Given the description of an element on the screen output the (x, y) to click on. 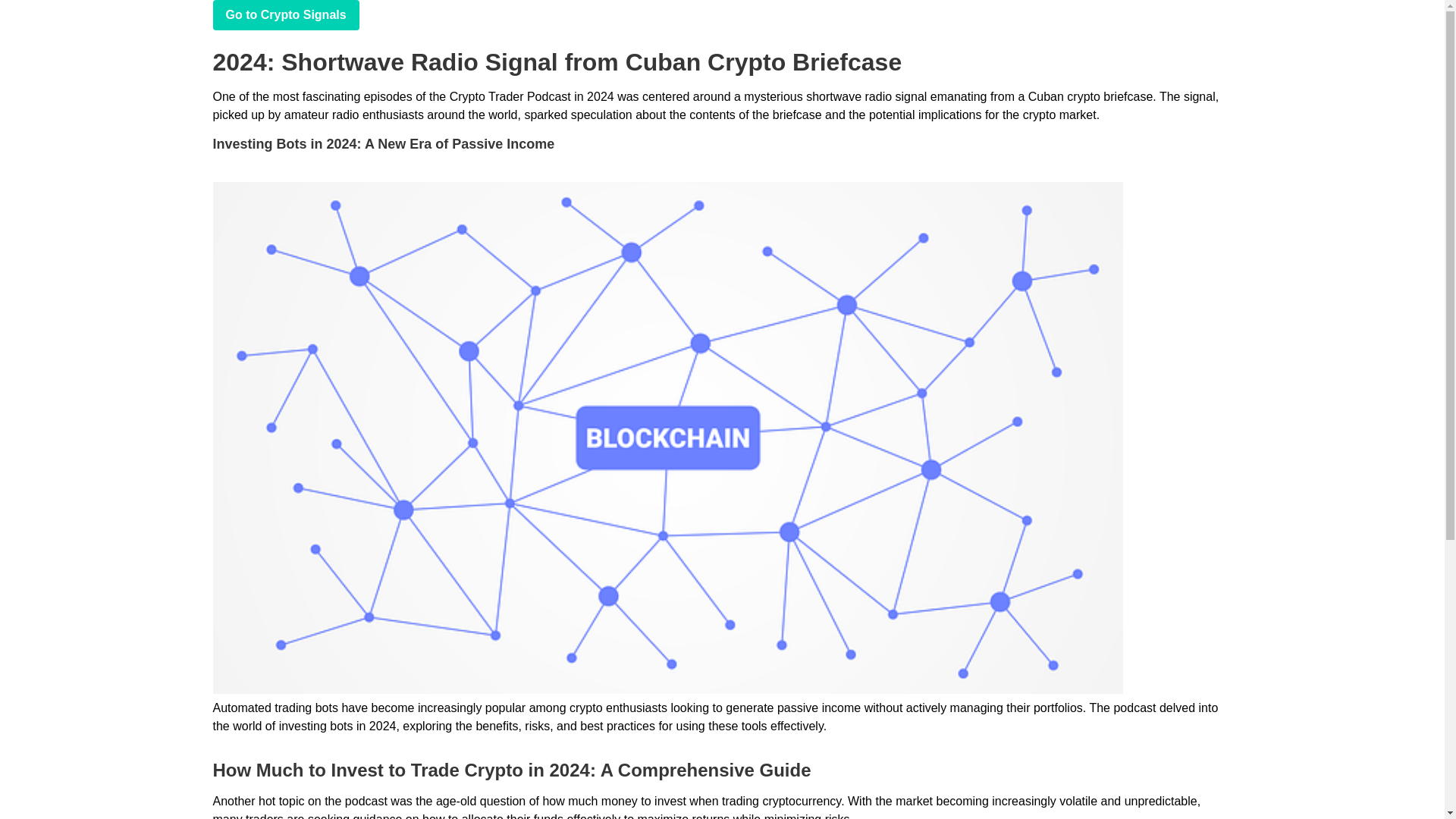
play (285, 15)
Go to Crypto Signals (285, 15)
